Given the description of an element on the screen output the (x, y) to click on. 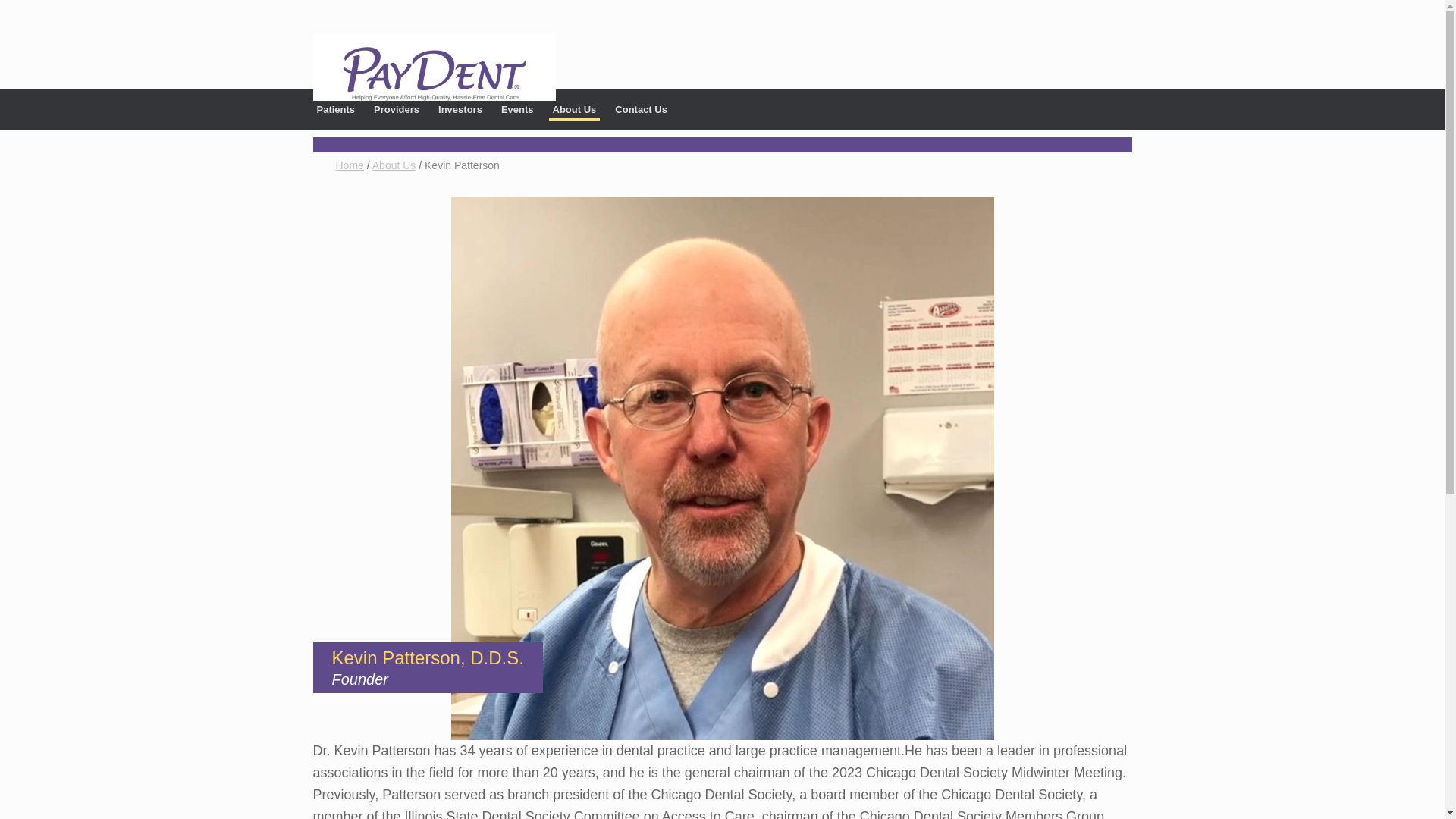
Patients (335, 103)
About Us (573, 104)
Investors (459, 103)
Home (348, 164)
Providers (396, 103)
PayDent (433, 67)
Events (517, 103)
Contact Us (641, 103)
